Given the description of an element on the screen output the (x, y) to click on. 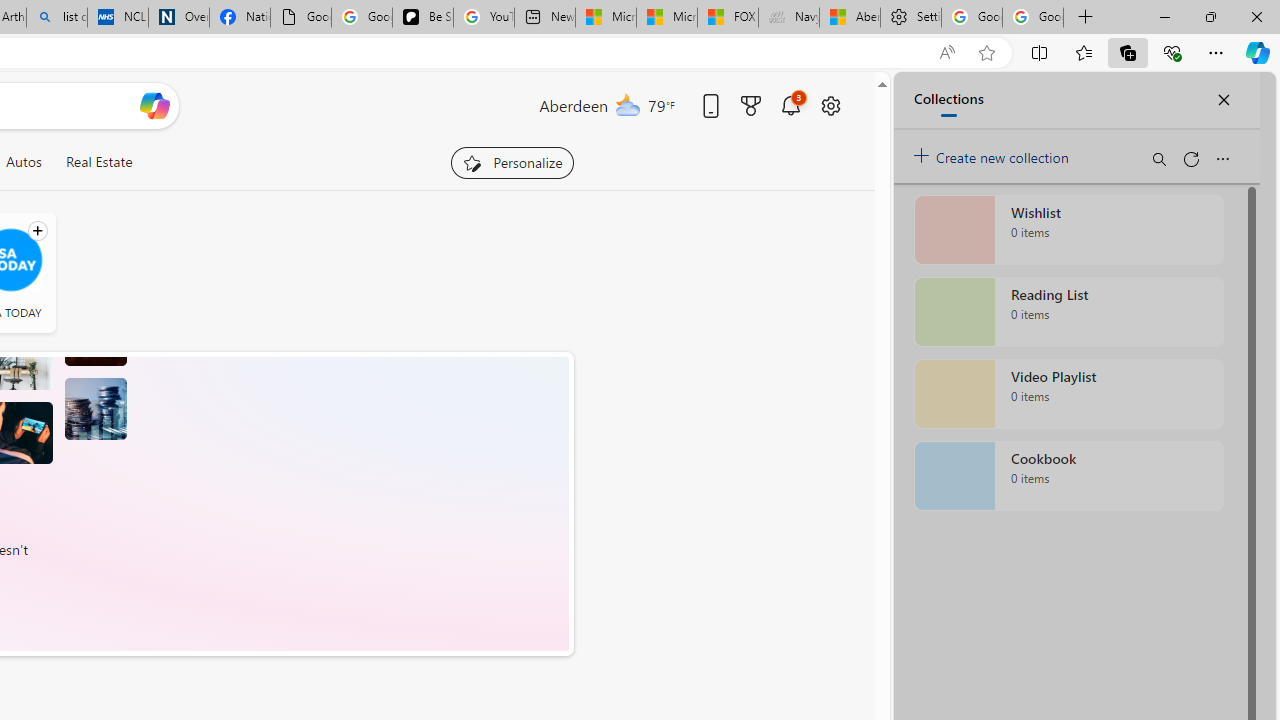
Open Copilot (155, 105)
Be Smart | creating Science videos | Patreon (423, 17)
Navy Quest (789, 17)
Real Estate (98, 161)
NCL Adult Asthma Inhaler Choice Guideline (118, 17)
Personalize your feed" (511, 162)
Real Estate (98, 162)
New tab (544, 17)
